Given the description of an element on the screen output the (x, y) to click on. 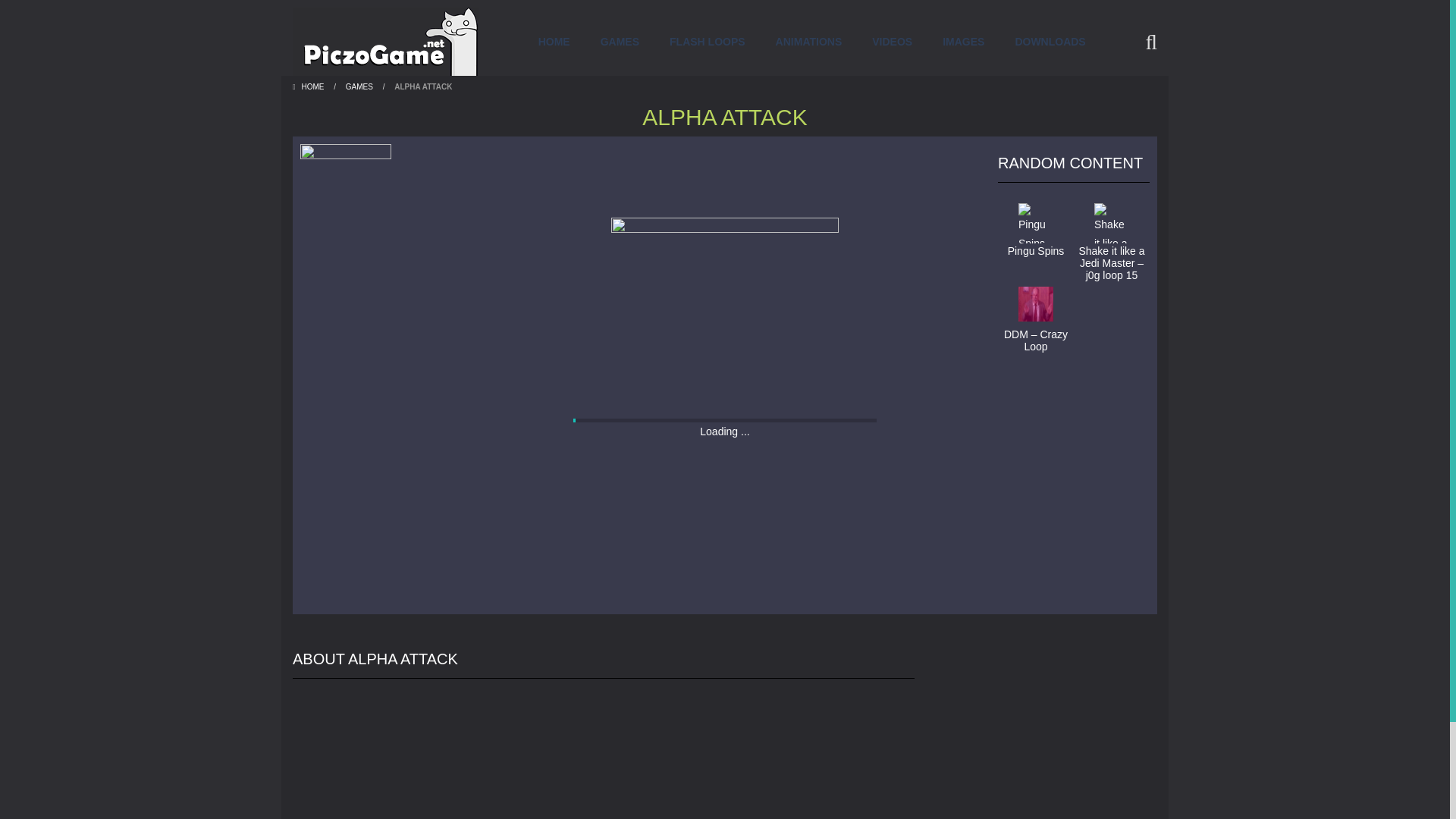
Pingu Spins (1035, 227)
HOME (309, 86)
VIDEOS (892, 41)
IMAGES (962, 41)
GAMES (359, 86)
ANIMATIONS (808, 41)
Home (309, 86)
PiczoGame.net (385, 41)
FLASH LOOPS (706, 41)
PiczoGame.net (385, 40)
